Given the description of an element on the screen output the (x, y) to click on. 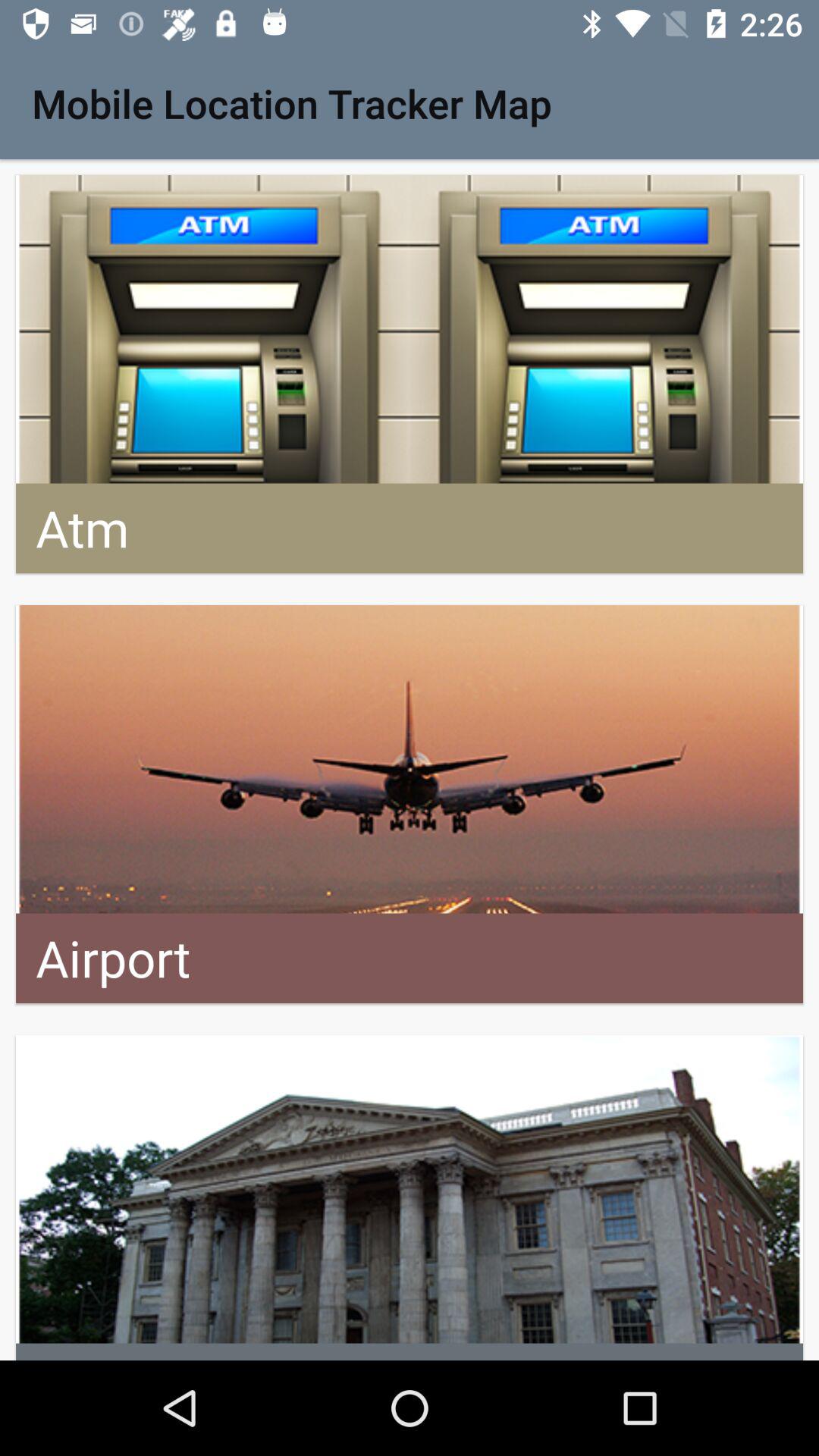
advertisement (409, 804)
